Given the description of an element on the screen output the (x, y) to click on. 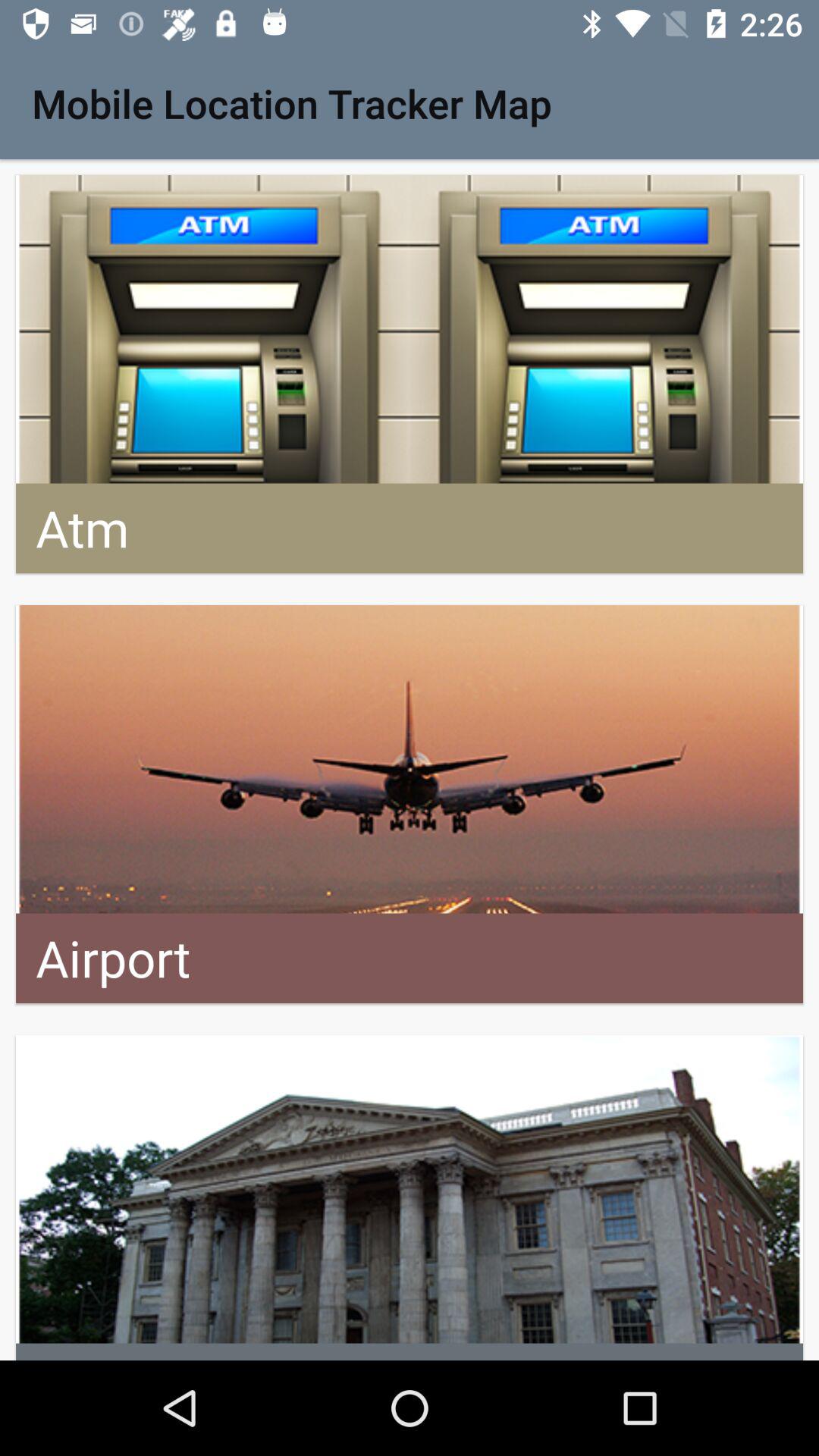
advertisement (409, 804)
